Given the description of an element on the screen output the (x, y) to click on. 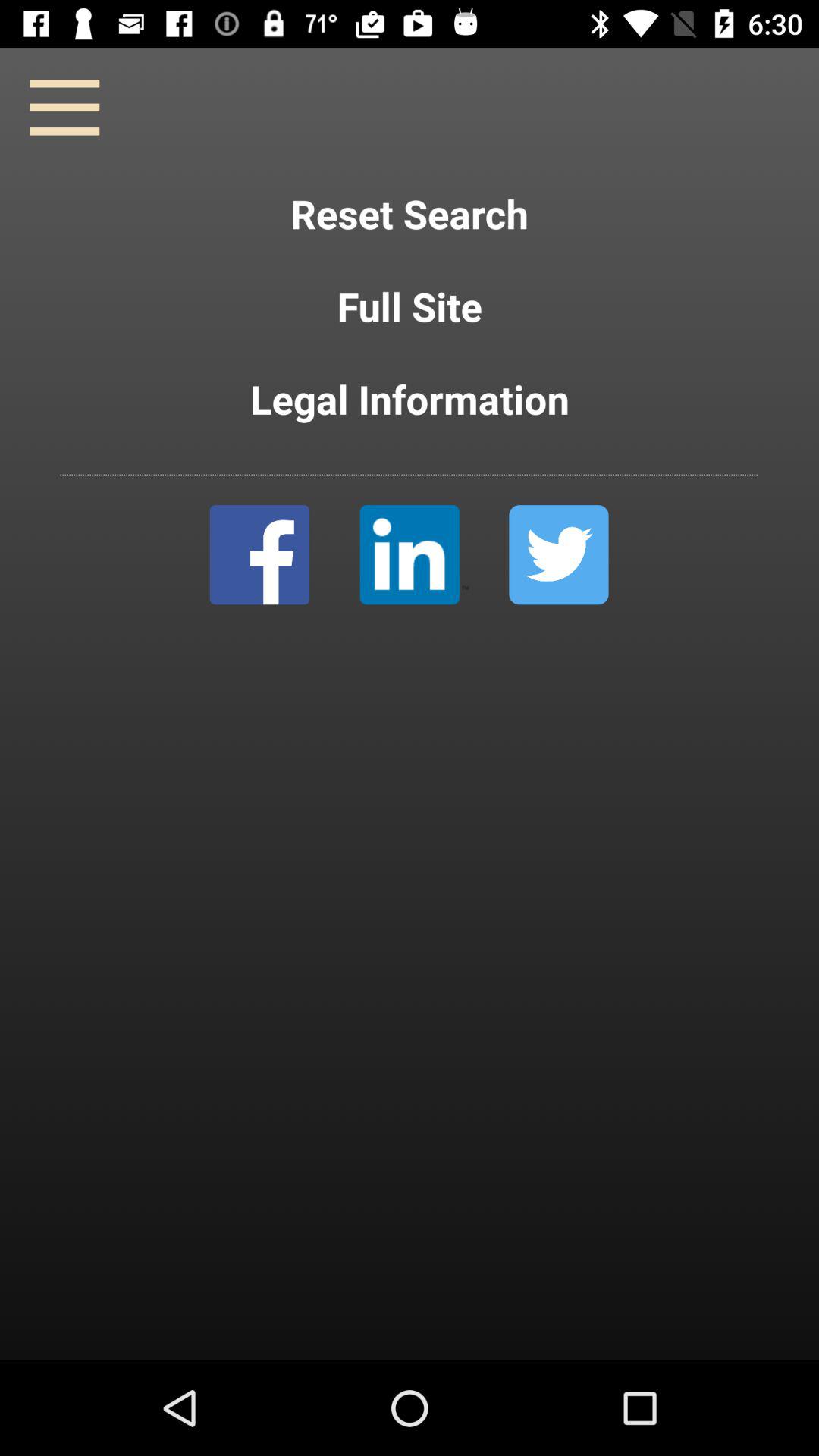
go to the app facebook page (259, 554)
